Given the description of an element on the screen output the (x, y) to click on. 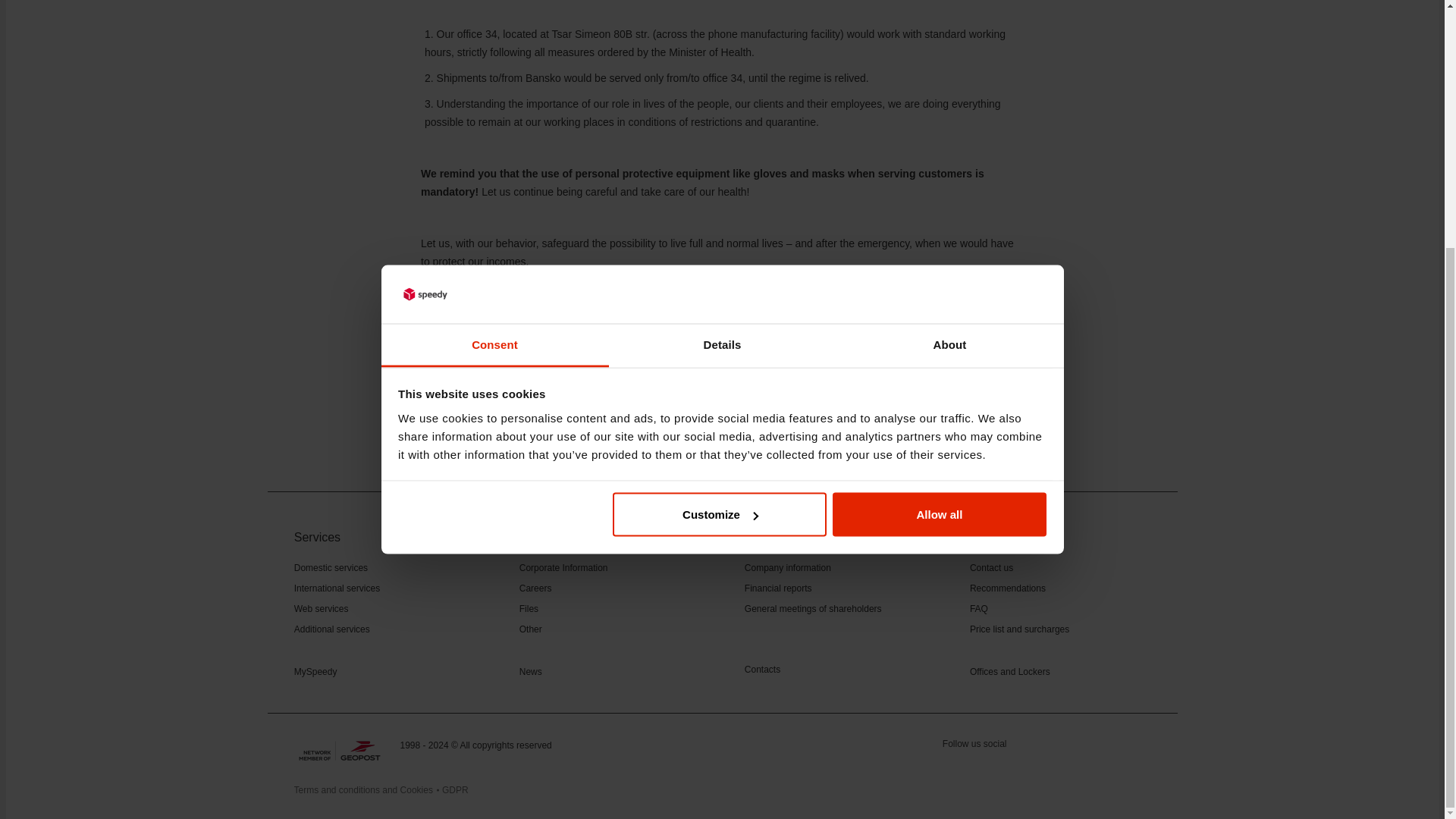
About (948, 10)
Allow all (939, 168)
Details (721, 10)
Consent (494, 10)
Customize (719, 168)
